Given the description of an element on the screen output the (x, y) to click on. 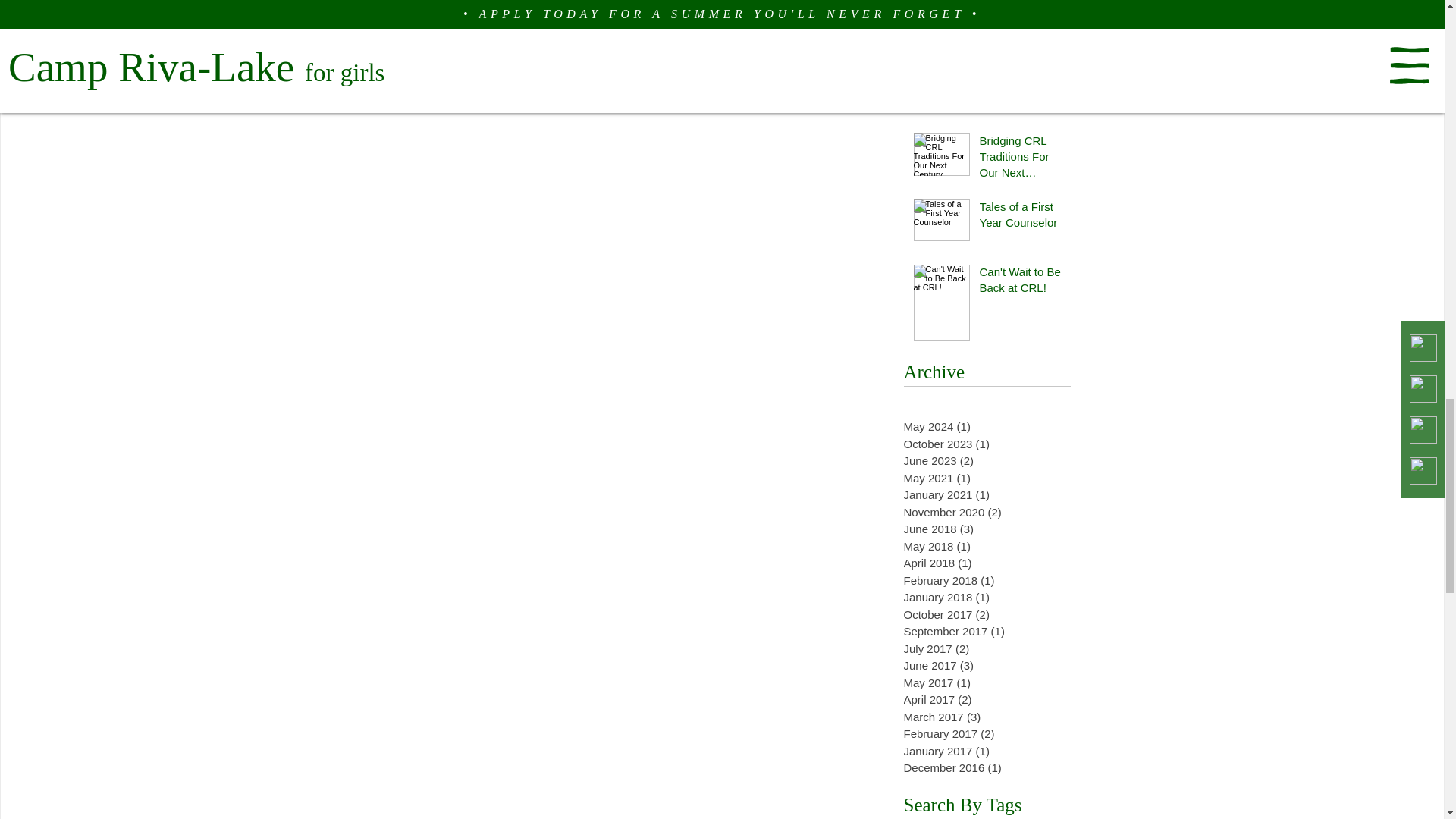
Sunday Walks at CRL (1020, 84)
Tales of a First Year Counselor (1020, 217)
How Lucky Am I? (1020, 2)
Can't Wait to Be Back at CRL! (1020, 282)
Bridging CRL Traditions For Our Next Century (1020, 159)
